Given the description of an element on the screen output the (x, y) to click on. 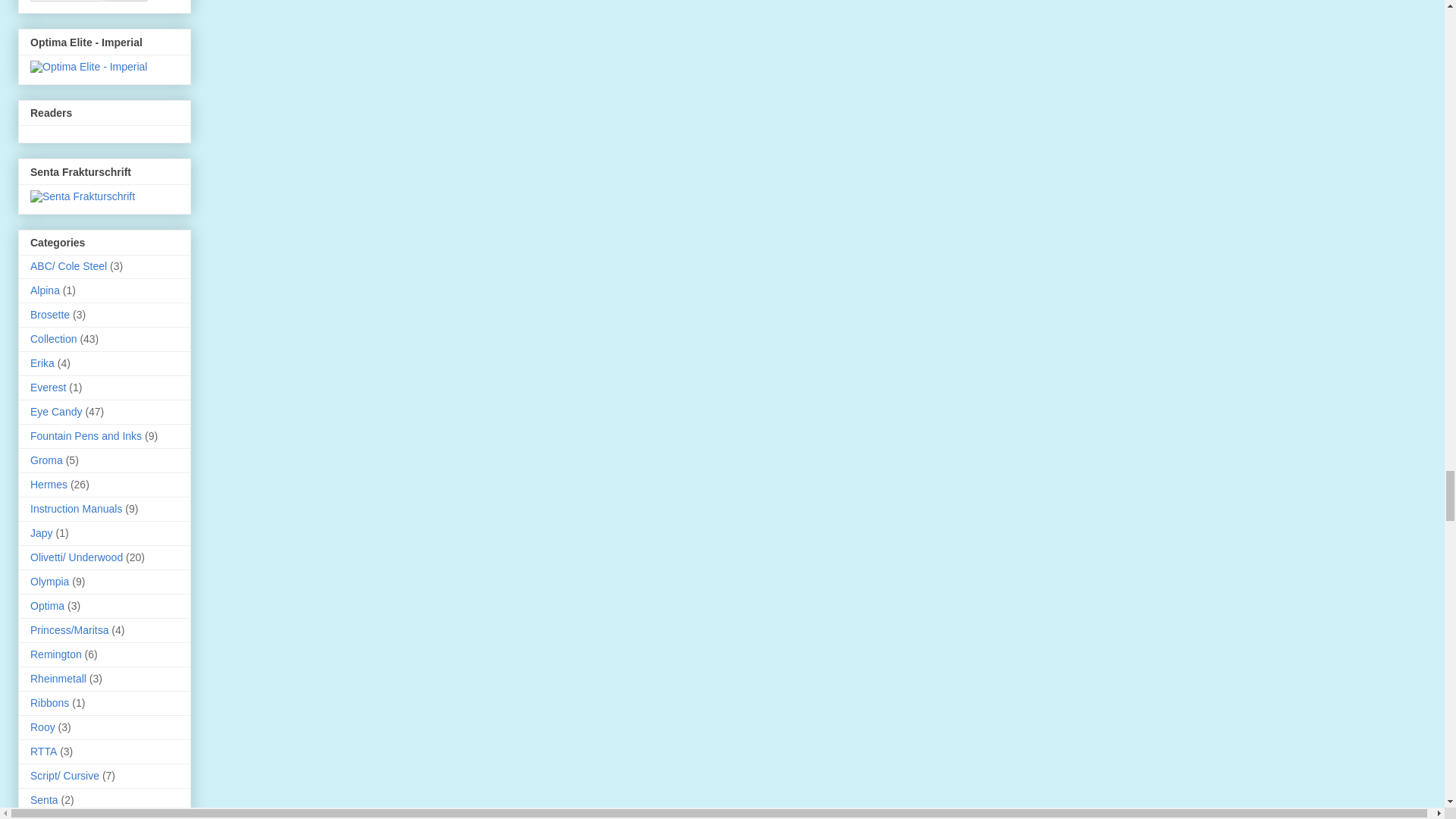
Search (125, 0)
search (66, 0)
search (125, 0)
Search (125, 0)
